Given the description of an element on the screen output the (x, y) to click on. 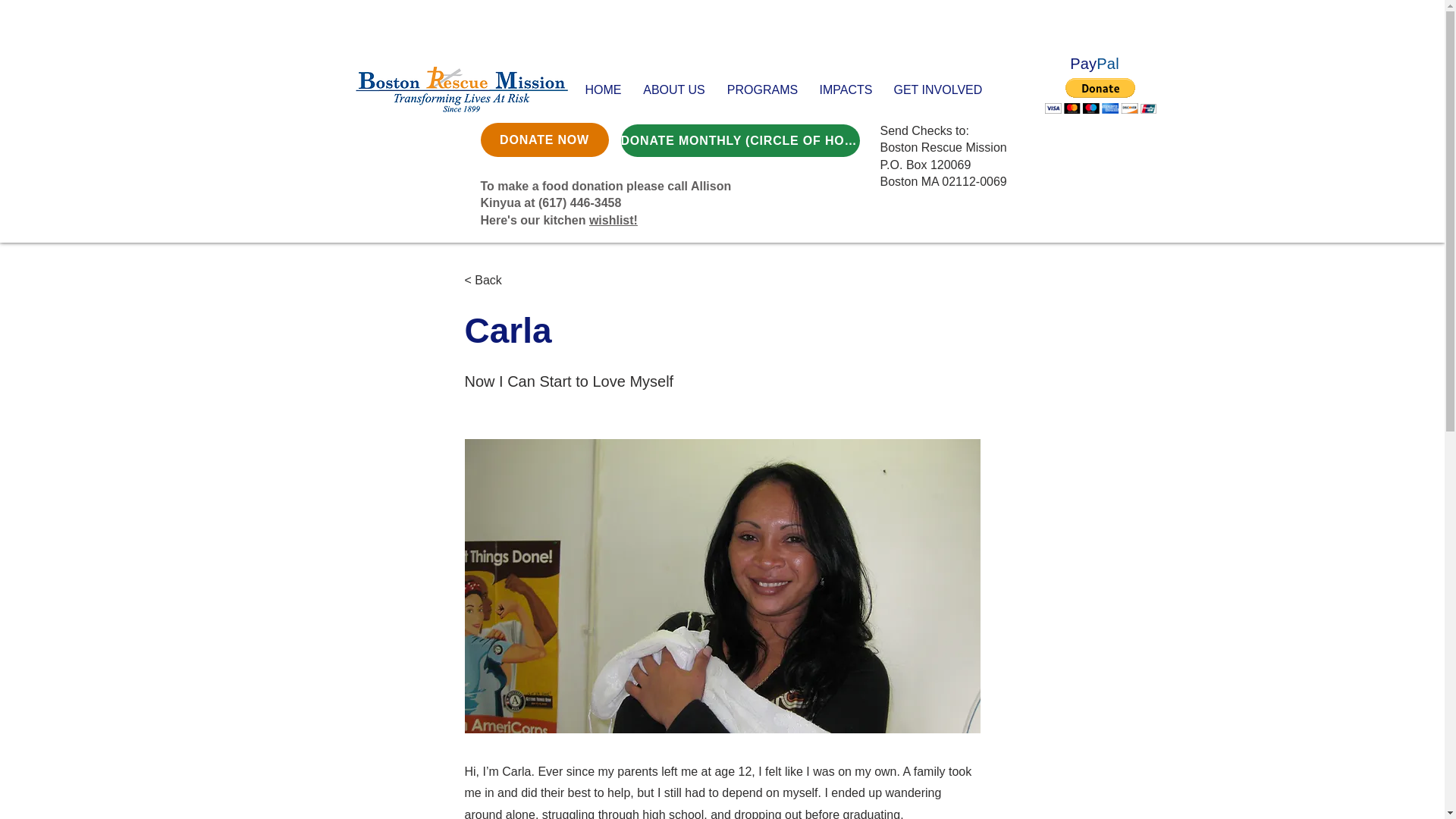
wishlist! (613, 219)
DONATE NOW (544, 139)
HOME (603, 89)
